Given the description of an element on the screen output the (x, y) to click on. 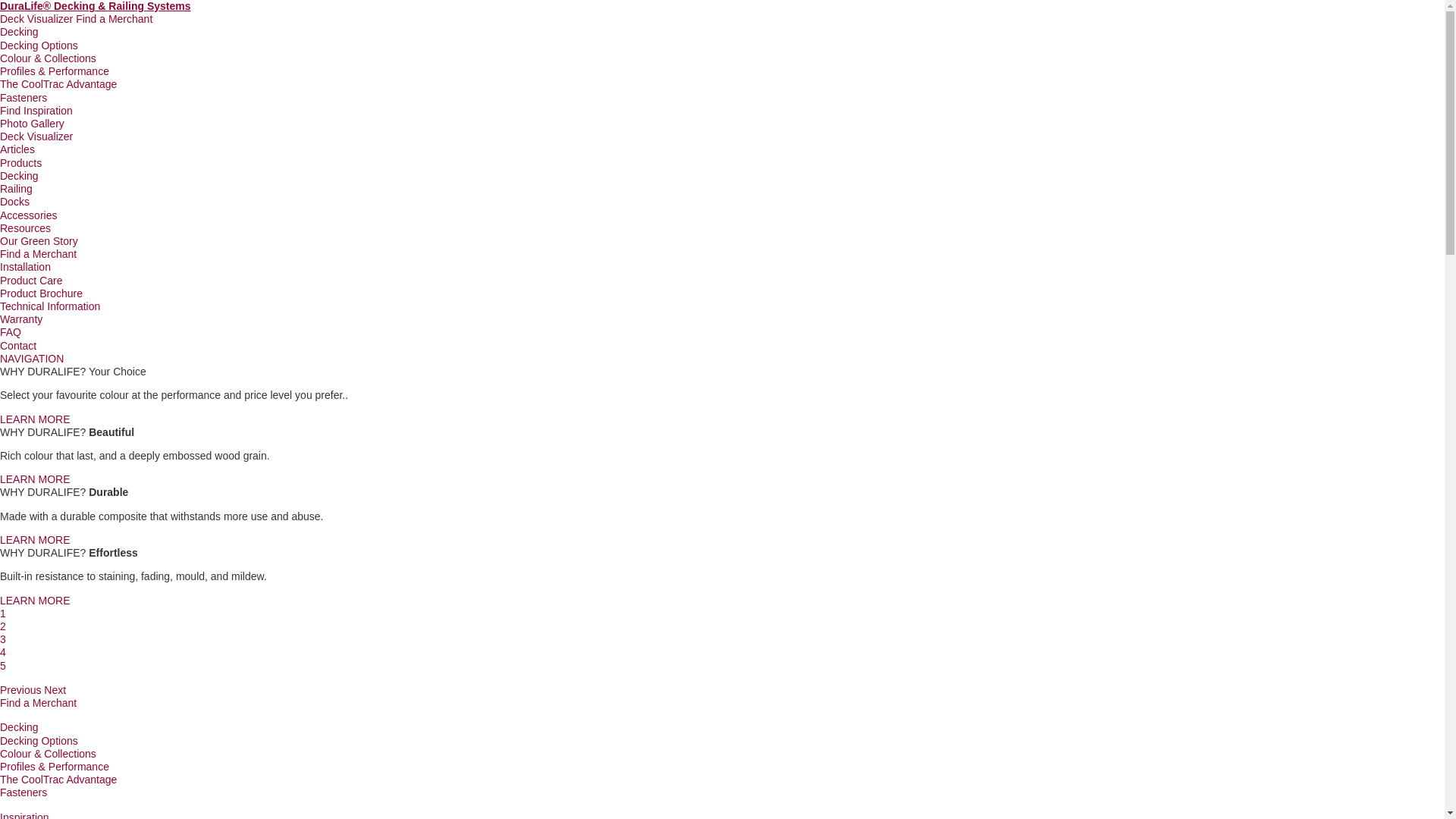
Resources Element type: text (25, 228)
Accessories Element type: text (28, 215)
LEARN MORE Element type: text (35, 600)
Find a Merchant Element type: text (113, 18)
Product Brochure Element type: text (41, 293)
Photo Gallery Element type: text (32, 123)
Products Element type: text (20, 162)
NAVIGATION Element type: text (31, 358)
Technical Information Element type: text (50, 306)
Product Care Element type: text (31, 280)
FAQ Element type: text (10, 332)
Decking Element type: text (19, 175)
LEARN MORE Element type: text (35, 419)
Our Green Story Element type: text (39, 241)
Next Element type: text (54, 690)
Warranty Element type: text (21, 319)
Previous Element type: text (20, 690)
Docks Element type: text (14, 201)
Railing Element type: text (16, 188)
4 Element type: text (3, 652)
Fasteners Element type: text (23, 97)
Decking Element type: text (19, 31)
Find a Merchant Element type: text (38, 253)
Articles Element type: text (17, 149)
1 Element type: text (3, 613)
Installation Element type: text (25, 266)
The CoolTrac Advantage Element type: text (58, 779)
Contact Element type: text (18, 345)
Decking Options Element type: text (39, 740)
The CoolTrac Advantage Element type: text (58, 84)
LEARN MORE Element type: text (35, 479)
Deck Visualizer Element type: text (36, 136)
2 Element type: text (3, 626)
Colour & Collections Element type: text (48, 58)
Profiles & Performance Element type: text (54, 71)
Profiles & Performance Element type: text (54, 766)
Decking Element type: text (19, 727)
Fasteners Element type: text (23, 792)
Find a Merchant Element type: text (38, 702)
5 Element type: text (3, 665)
Find Inspiration Element type: text (36, 110)
Deck Visualizer Element type: text (36, 18)
3 Element type: text (3, 639)
Decking Options Element type: text (39, 45)
Colour & Collections Element type: text (48, 753)
LEARN MORE Element type: text (35, 539)
